Given the description of an element on the screen output the (x, y) to click on. 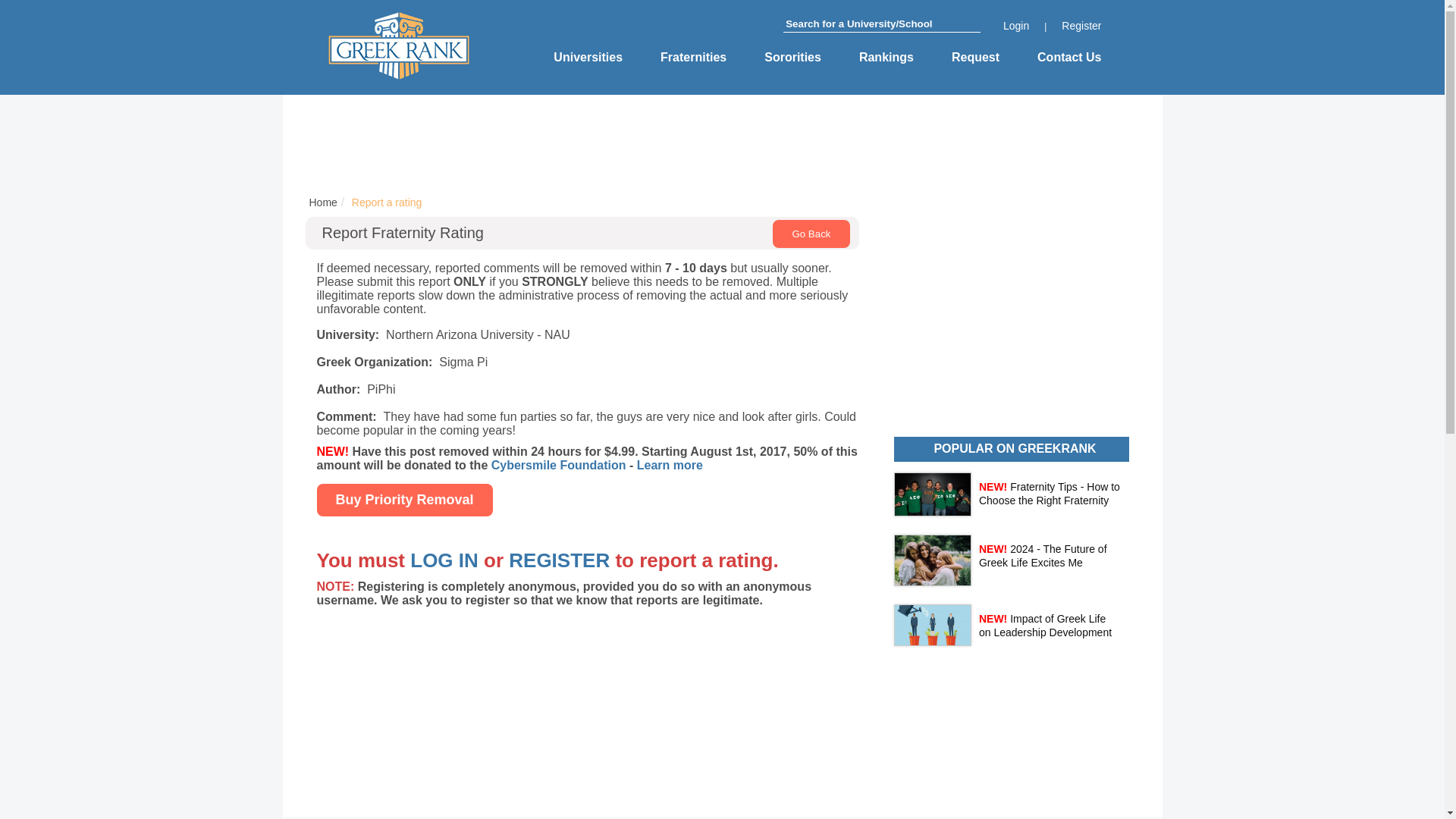
Fraternity Tips - How to Choose the Right Fraternity (1048, 493)
2024 - The Future of Greek Life Excites Me (1042, 555)
Login (1016, 25)
Impact of Greek Life on Leadership Development (1045, 625)
Universities (588, 57)
schoolsearch (881, 23)
Sororities (792, 57)
Fraternities (693, 57)
Cybersmile Foundation (559, 464)
LOG IN (444, 559)
Buy Priority Removal (405, 500)
Rankings (886, 57)
Home (322, 202)
Register (1080, 25)
Contact Us (1068, 57)
